Given the description of an element on the screen output the (x, y) to click on. 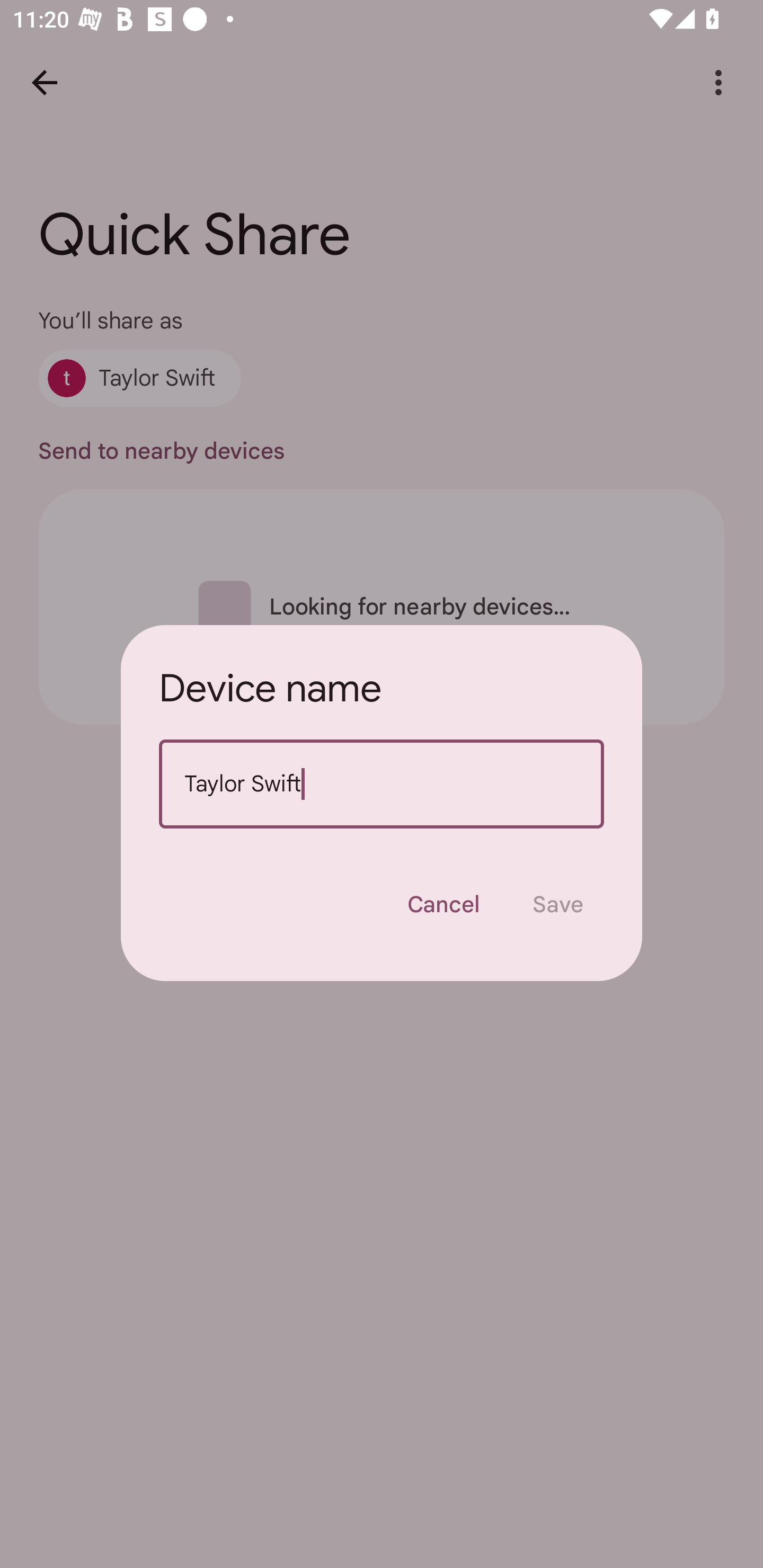
Taylor Swift Device name (381, 783)
Cancel (443, 904)
Save (557, 904)
